Given the description of an element on the screen output the (x, y) to click on. 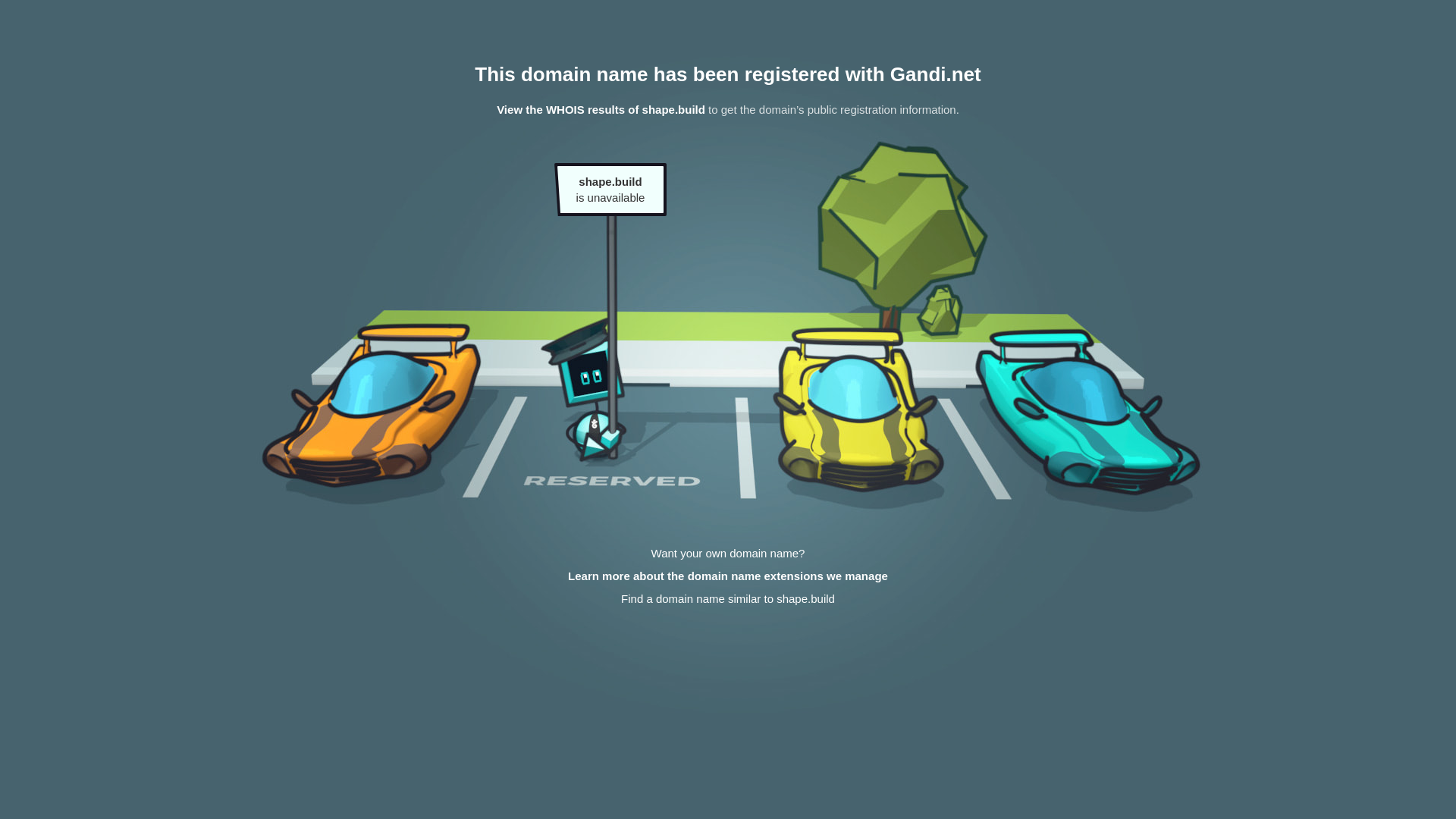
View the WHOIS results of shape.build Element type: text (600, 109)
Find a domain name similar to shape.build Element type: text (727, 598)
Learn more about the domain name extensions we manage Element type: text (727, 575)
